Given the description of an element on the screen output the (x, y) to click on. 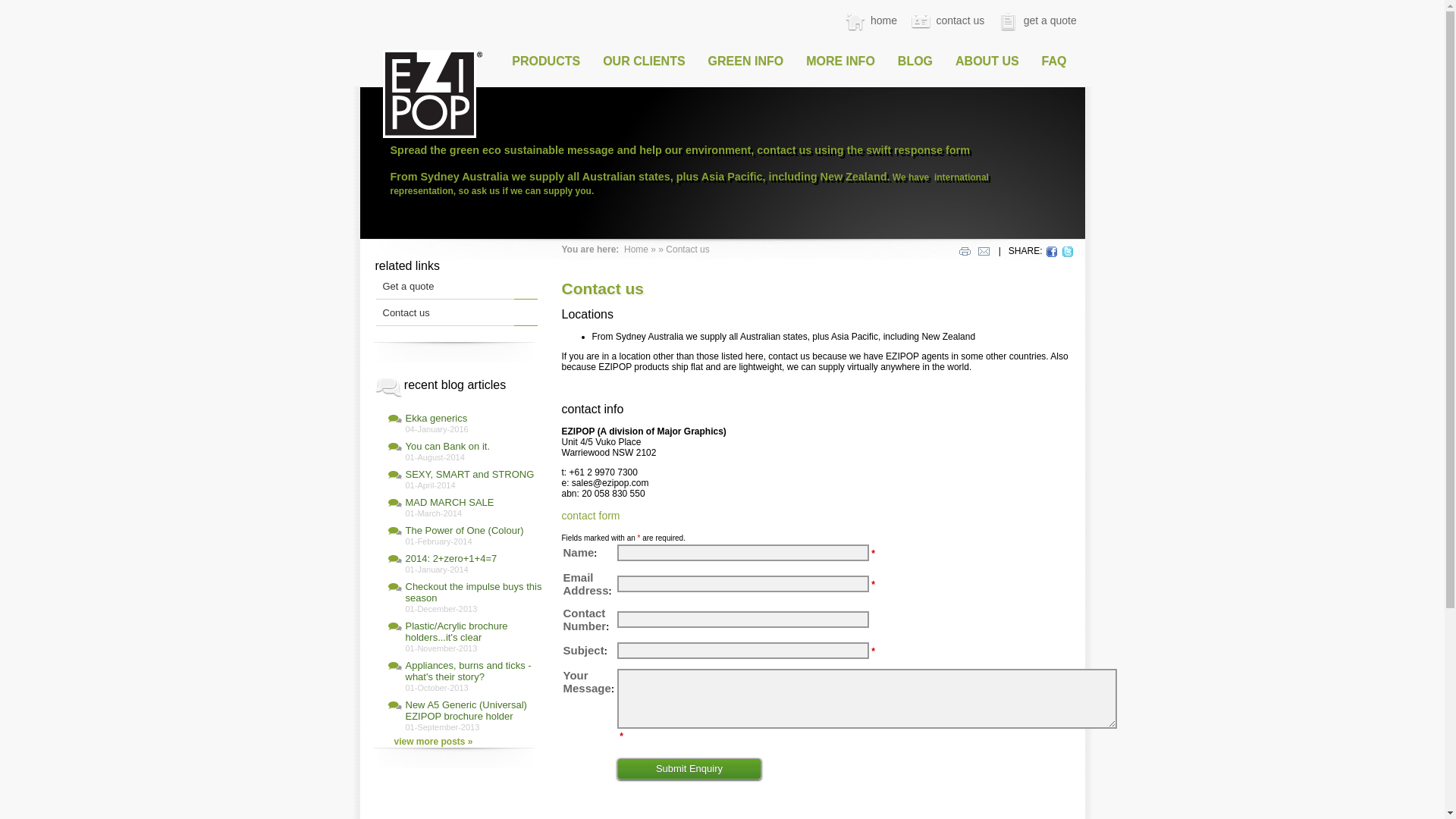
MORE INFO Element type: text (840, 61)
Email Page Element type: hover (984, 251)
Checkout the impulse buys this season Element type: text (472, 591)
Submit Enquiry Element type: text (689, 768)
2014: 2+zero+1+4=7 Element type: text (450, 558)
Tweet about this page on Twitter Element type: hover (1067, 251)
contact us Element type: text (946, 20)
BLOG Element type: text (915, 61)
Plastic/Acrylic brochure holders...it's clear Element type: text (455, 631)
Share this page on Facebook Element type: hover (1051, 251)
GREEN INFO Element type: text (745, 61)
Print Page Element type: hover (965, 251)
Get a quote Element type: text (407, 285)
get a quote Element type: text (1036, 20)
Contact us Element type: text (405, 312)
ABOUT US Element type: text (986, 61)
Ekka generics Element type: text (435, 417)
Contact us Element type: text (687, 249)
Home Element type: text (636, 249)
SEXY, SMART and STRONG Element type: text (468, 474)
The Power of One (Colour) Element type: text (463, 530)
MAD MARCH SALE Element type: text (448, 502)
PRODUCTS Element type: text (545, 61)
New A5 Generic (Universal) EZIPOP brochure holder Element type: text (465, 710)
OUR CLIENTS Element type: text (643, 61)
home Element type: text (870, 20)
You can Bank on it. Element type: text (446, 445)
FAQ Element type: text (1054, 61)
Appliances, burns and ticks - what's their story? Element type: text (467, 670)
